Given the description of an element on the screen output the (x, y) to click on. 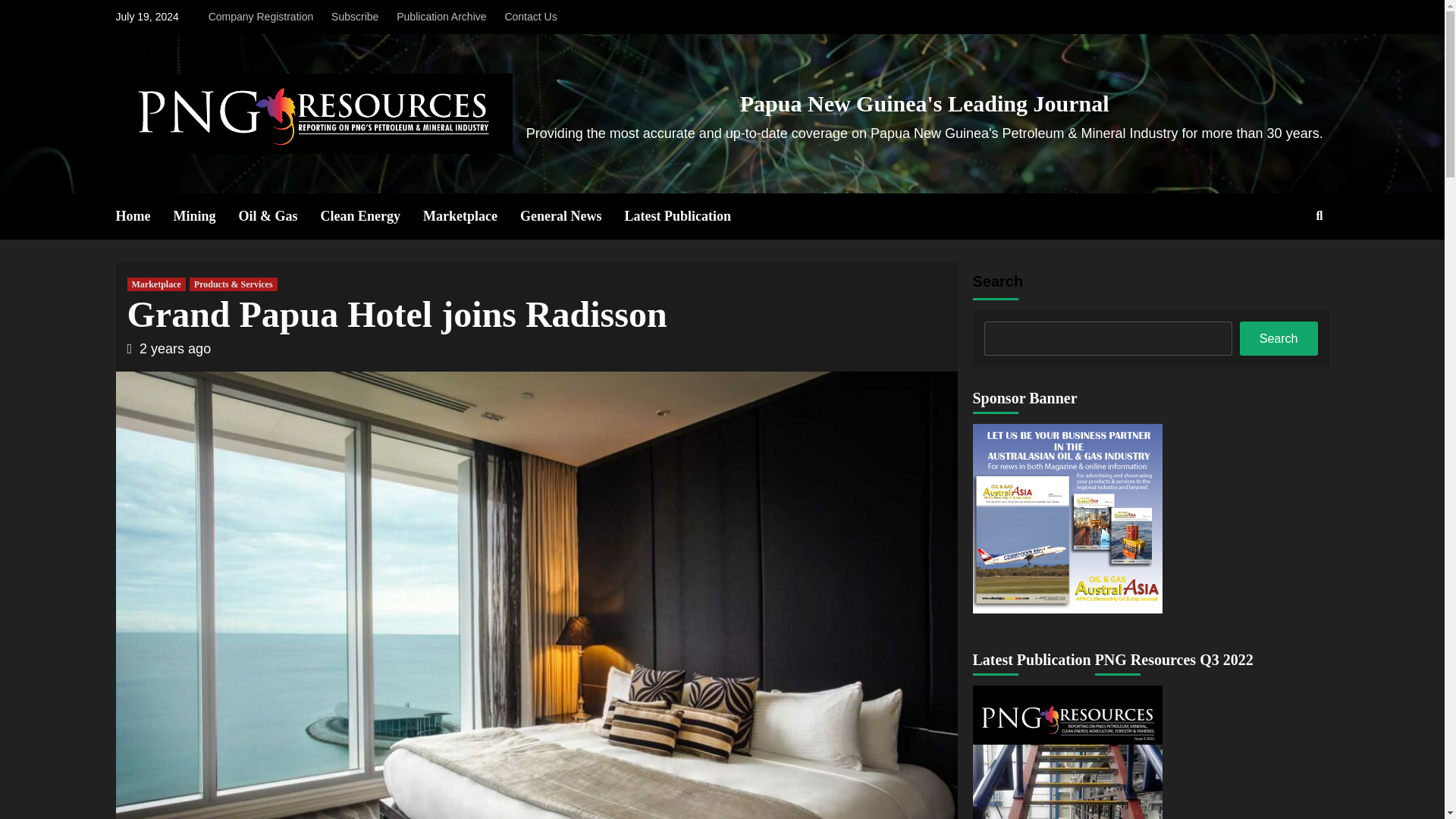
Marketplace (471, 216)
Marketplace (157, 284)
Company Registration (264, 17)
Subscribe (354, 17)
Publication Archive (440, 17)
Search (1278, 338)
Clean Energy (371, 216)
Mining (205, 216)
General News (571, 216)
Latest Publication (689, 216)
Search (1283, 264)
Home (144, 216)
Contact Us (530, 17)
